Given the description of an element on the screen output the (x, y) to click on. 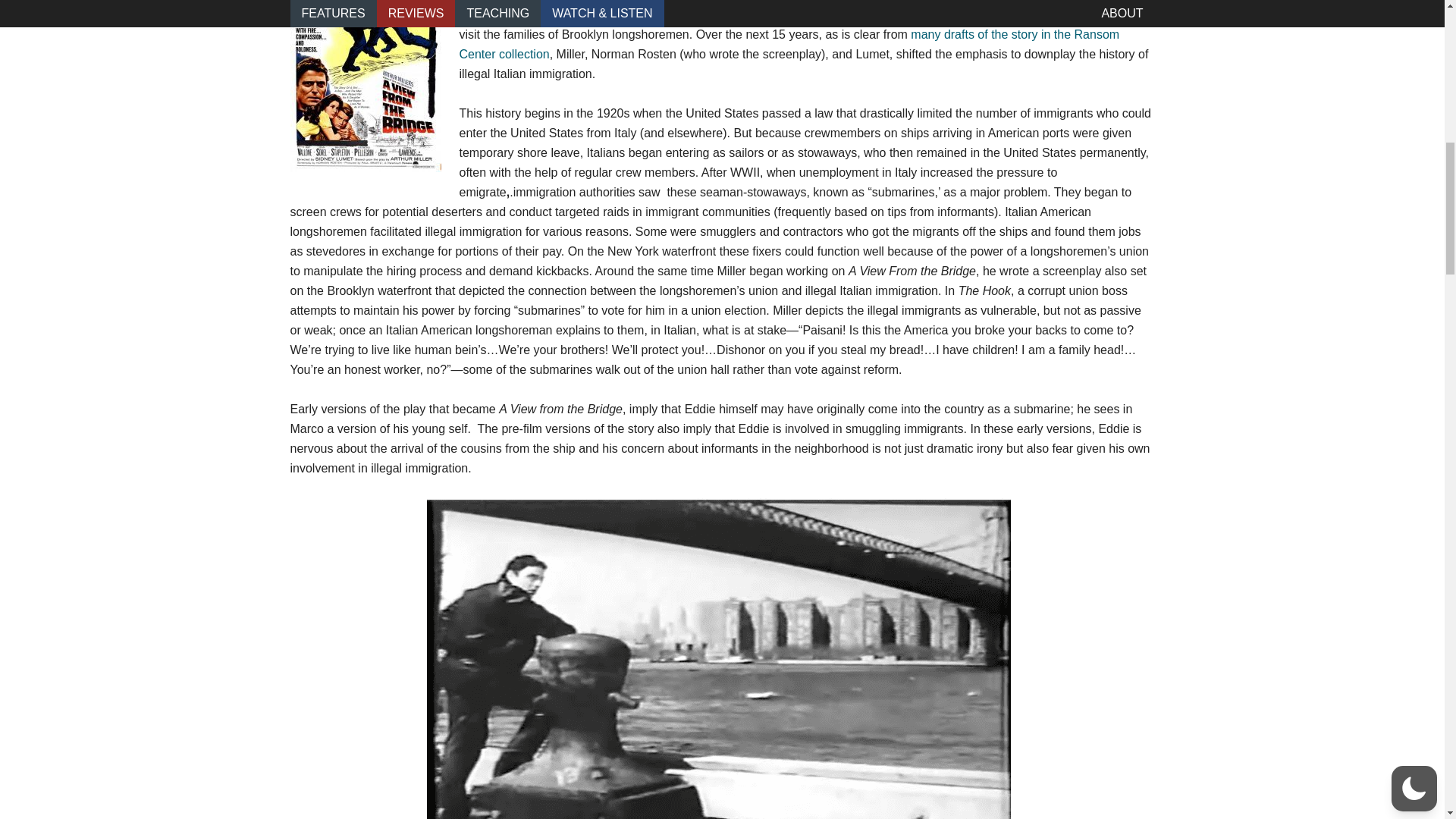
many drafts of the story in the Ransom Center collection (789, 43)
